Given the description of an element on the screen output the (x, y) to click on. 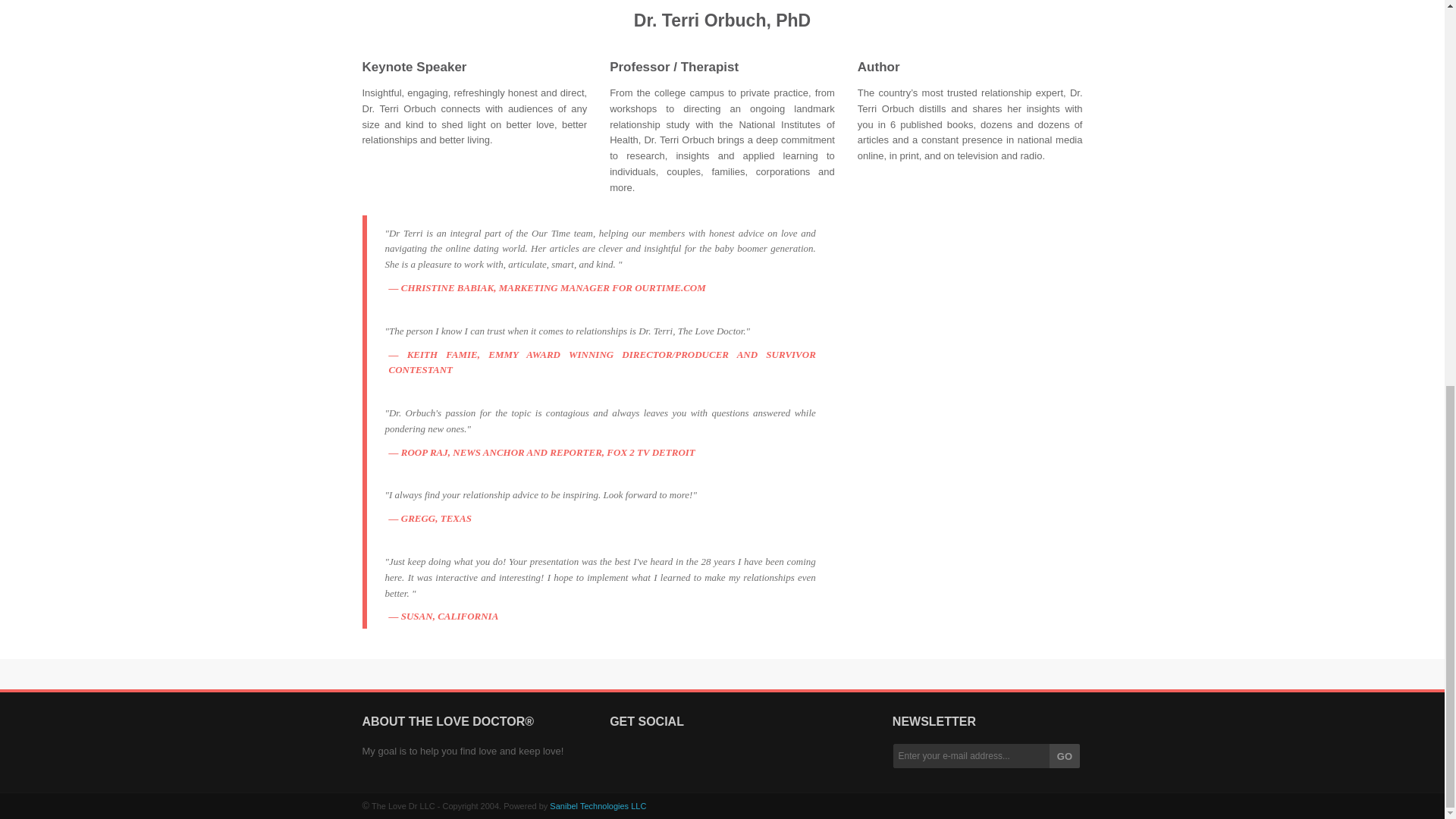
GO (1064, 755)
GO (1064, 755)
Sanibel Technologies LLC (598, 805)
